Given the description of an element on the screen output the (x, y) to click on. 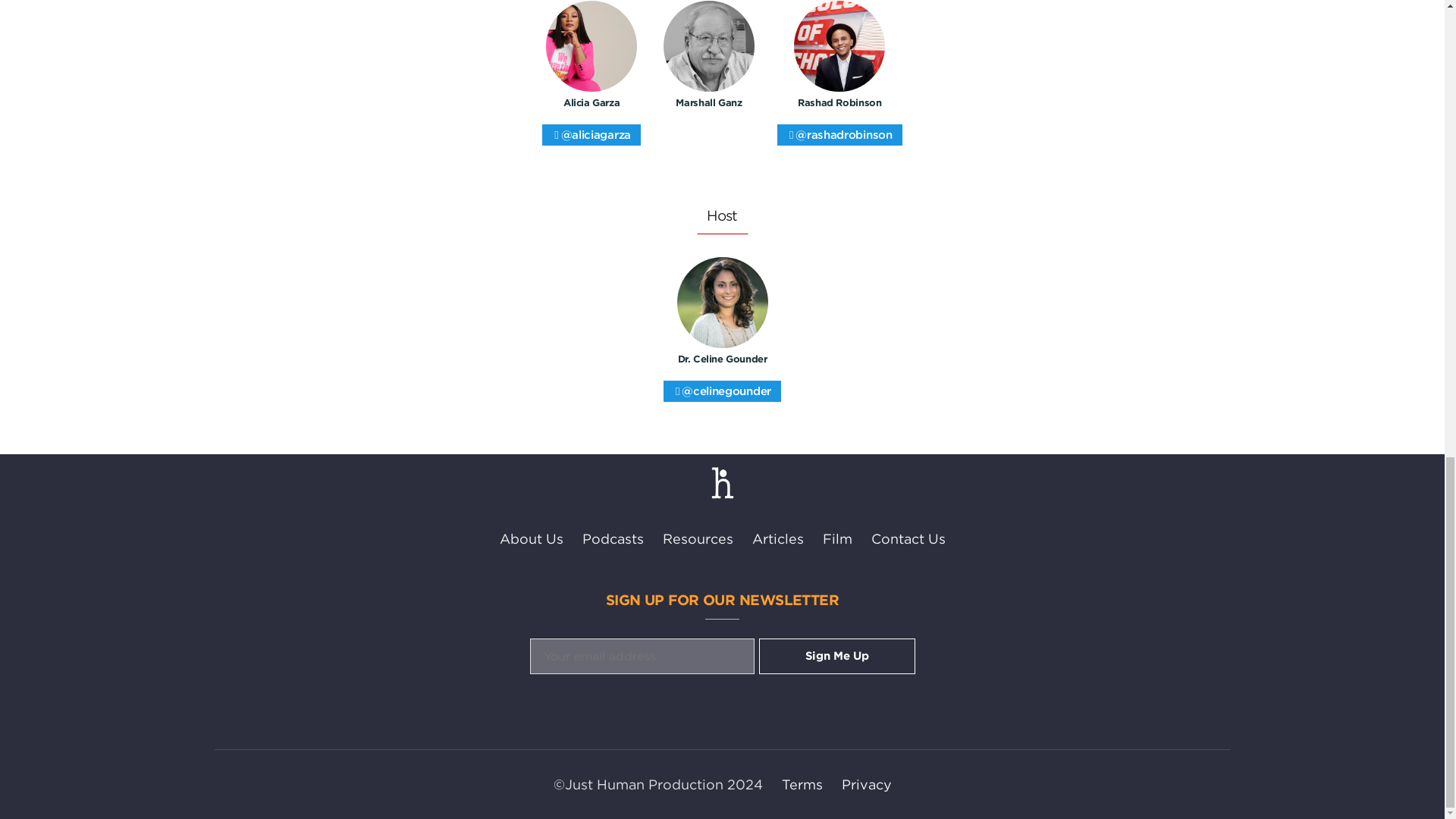
Film (836, 538)
Podcasts (612, 538)
Articles (777, 538)
Resources (697, 538)
About Us (530, 538)
